Given the description of an element on the screen output the (x, y) to click on. 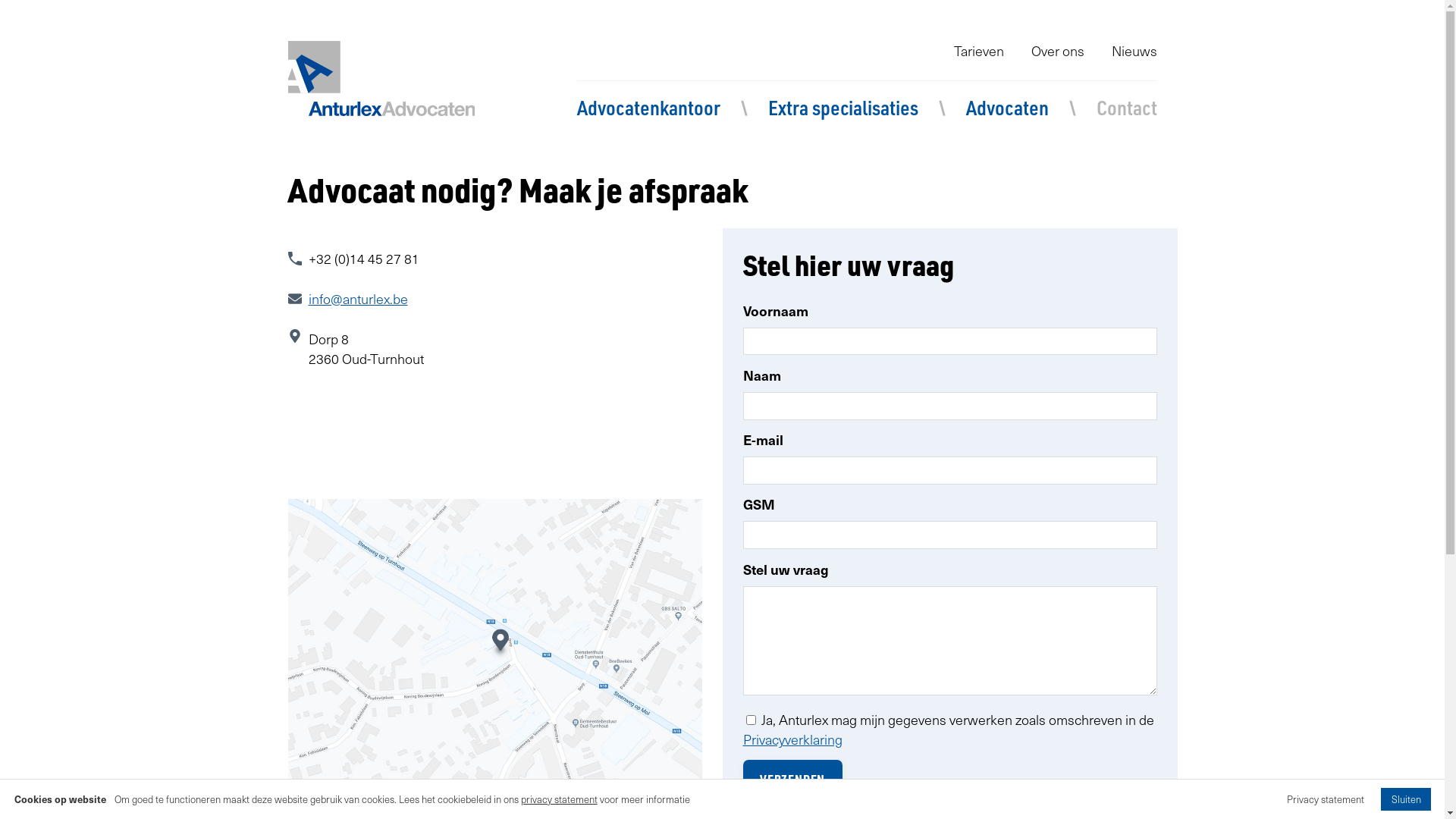
info@anturlex.be Element type: text (357, 298)
Extra specialisaties Element type: text (842, 107)
Sluiten Element type: text (1405, 798)
Over ons Element type: text (1057, 50)
Privacy statement Element type: text (1325, 798)
Contact Element type: text (1126, 107)
Advocatenkantoor Element type: text (647, 107)
privacy statement Element type: text (558, 798)
VERZENDEN Element type: text (792, 779)
Tarieven Element type: text (978, 50)
Privacyverklaring Element type: text (792, 738)
Advocaten Element type: text (1007, 107)
Nieuws Element type: text (1134, 50)
